Given the description of an element on the screen output the (x, y) to click on. 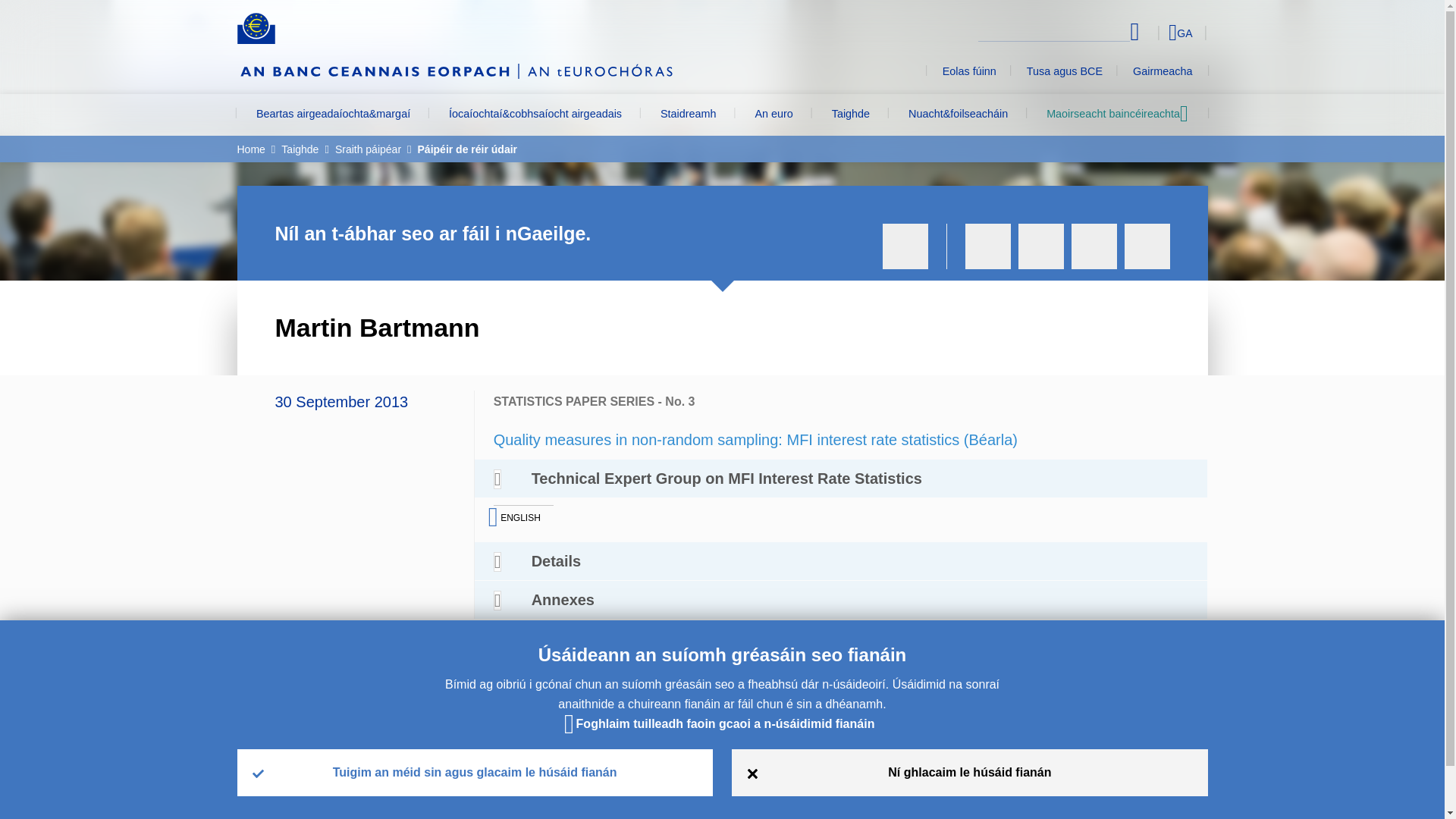
Select language (1153, 32)
